Given the description of an element on the screen output the (x, y) to click on. 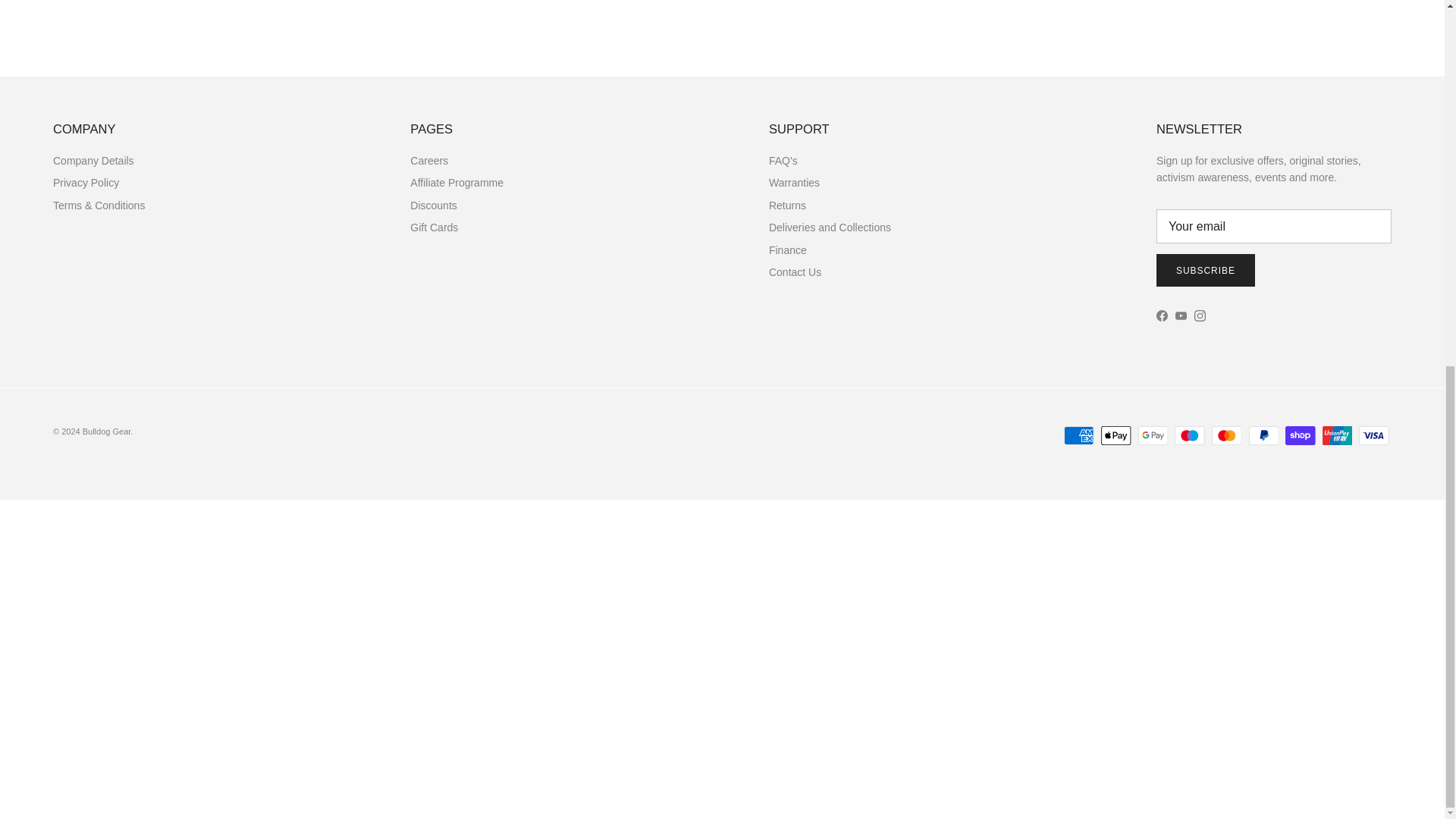
American Express (1078, 435)
Bulldog Gear on YouTube (1180, 315)
Maestro (1189, 435)
Apple Pay (1115, 435)
Mastercard (1226, 435)
Visa (1373, 435)
Google Pay (1152, 435)
PayPal (1262, 435)
Union Pay (1337, 435)
Shop Pay (1299, 435)
